Given the description of an element on the screen output the (x, y) to click on. 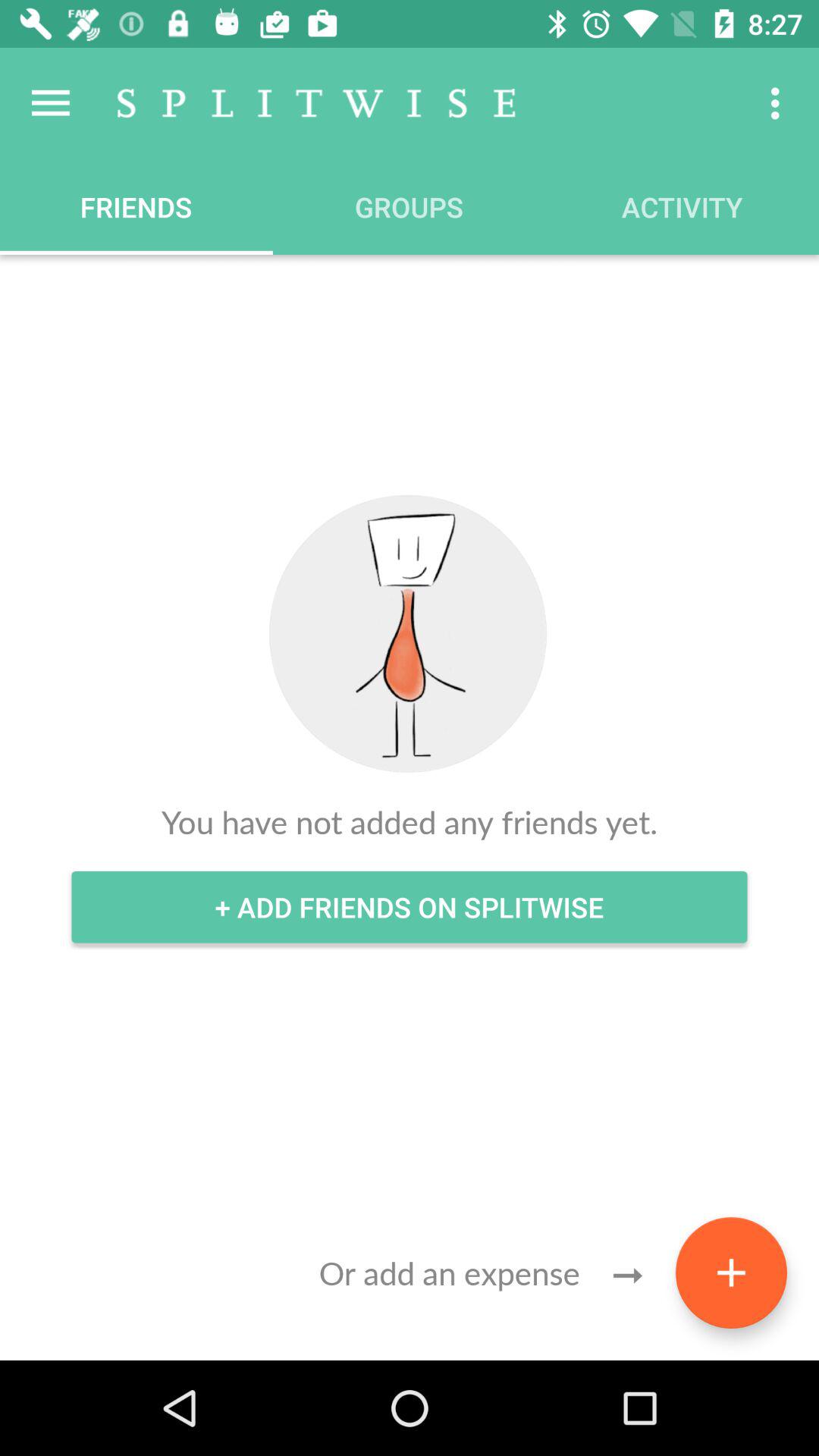
tap the item above the activity icon (779, 103)
